Given the description of an element on the screen output the (x, y) to click on. 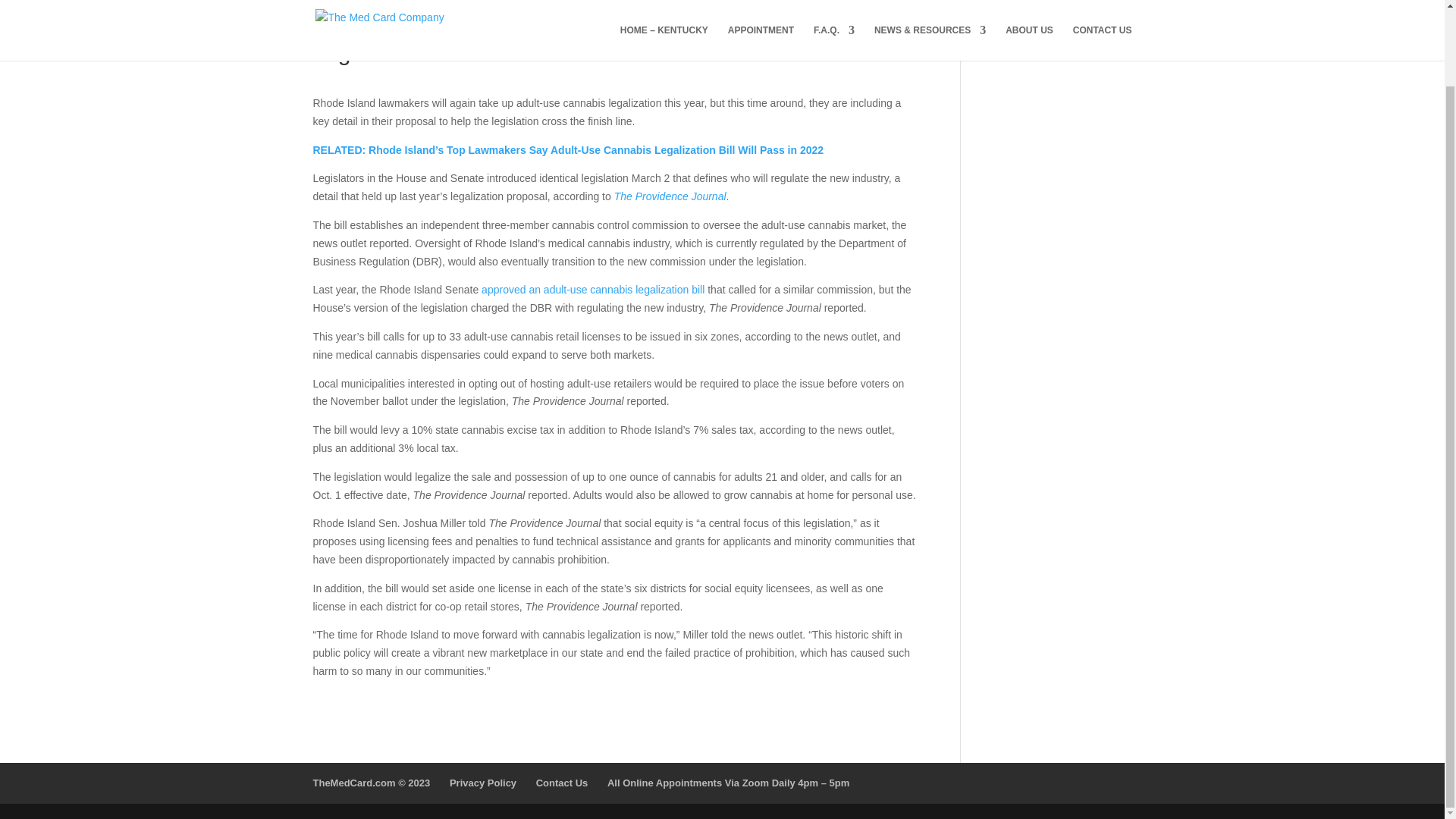
The Providence Journal (670, 196)
Contact Us (561, 782)
approved an adult-use cannabis legalization bill (592, 289)
Privacy Policy (482, 782)
